Given the description of an element on the screen output the (x, y) to click on. 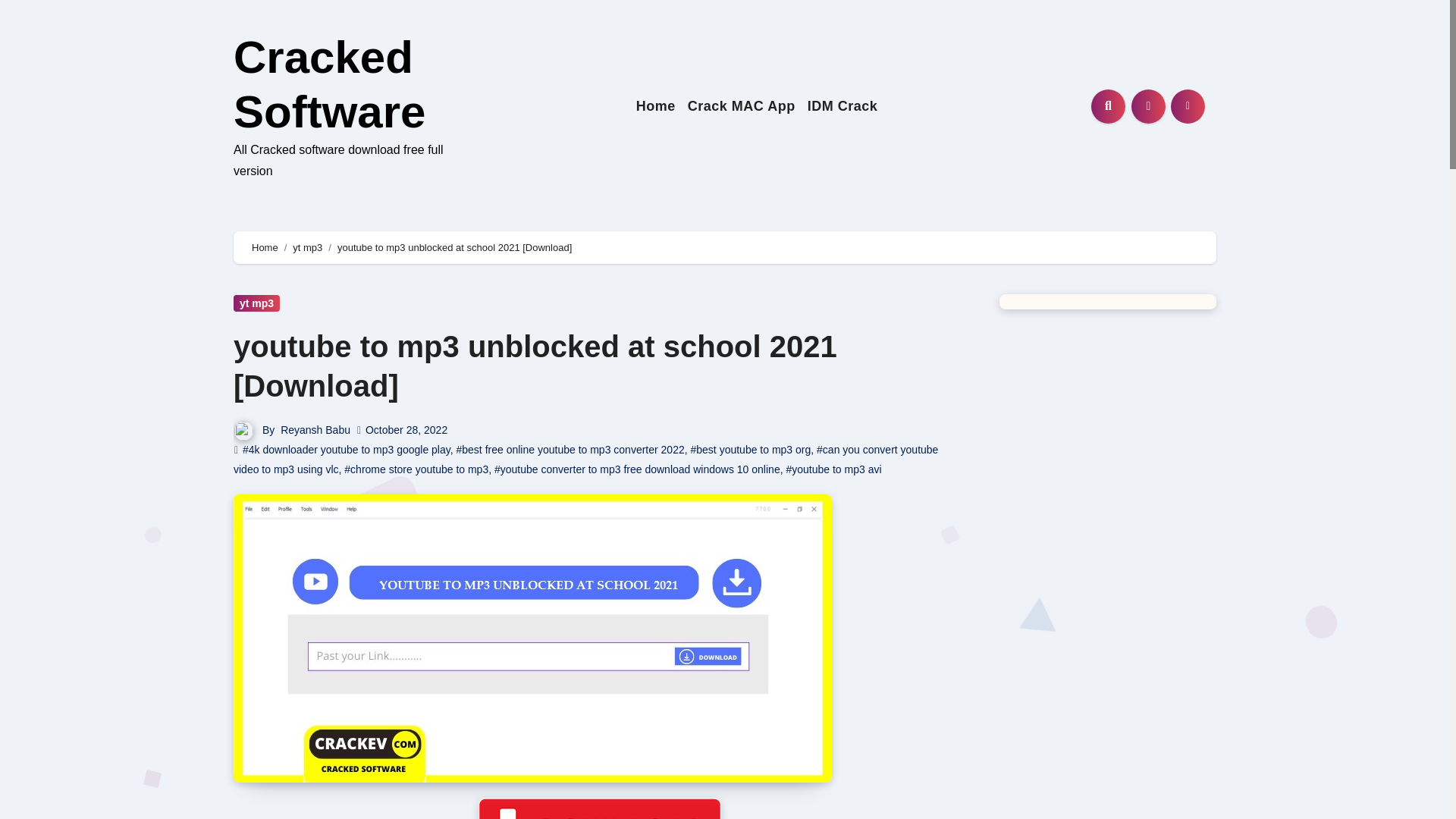
October 28, 2022 (405, 429)
yt mp3 (306, 247)
IDM Crack (842, 106)
Home (655, 106)
yt mp3 (255, 303)
Home (655, 106)
Home (264, 247)
Cracked Software (328, 84)
Crack MAC App (741, 106)
Reyansh Babu (315, 429)
